Given the description of an element on the screen output the (x, y) to click on. 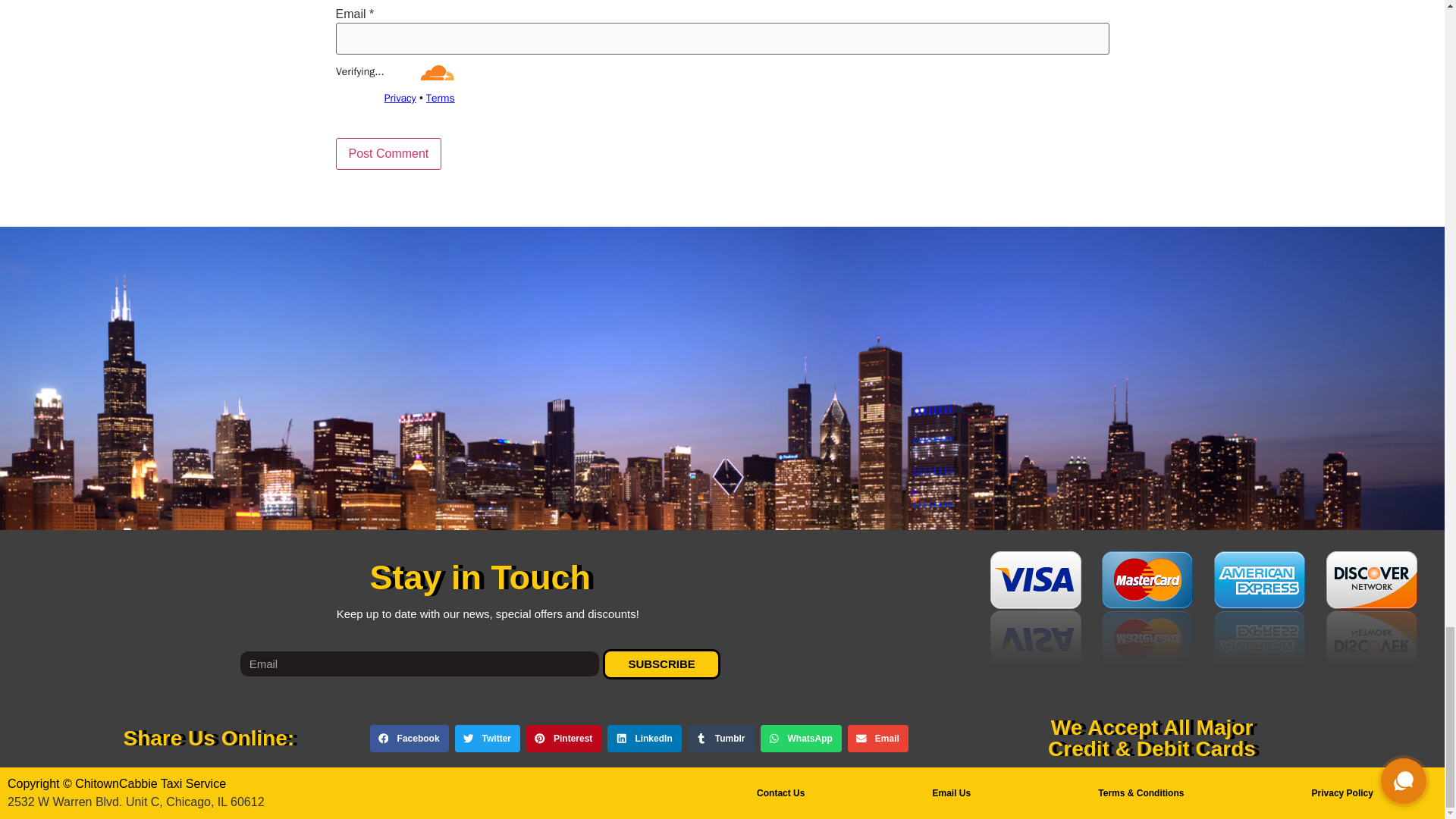
Contact Us (780, 792)
Post Comment (387, 153)
Email Us (950, 792)
SUBSCRIBE (661, 664)
Privacy Policy (1341, 792)
Post Comment (387, 153)
